Given the description of an element on the screen output the (x, y) to click on. 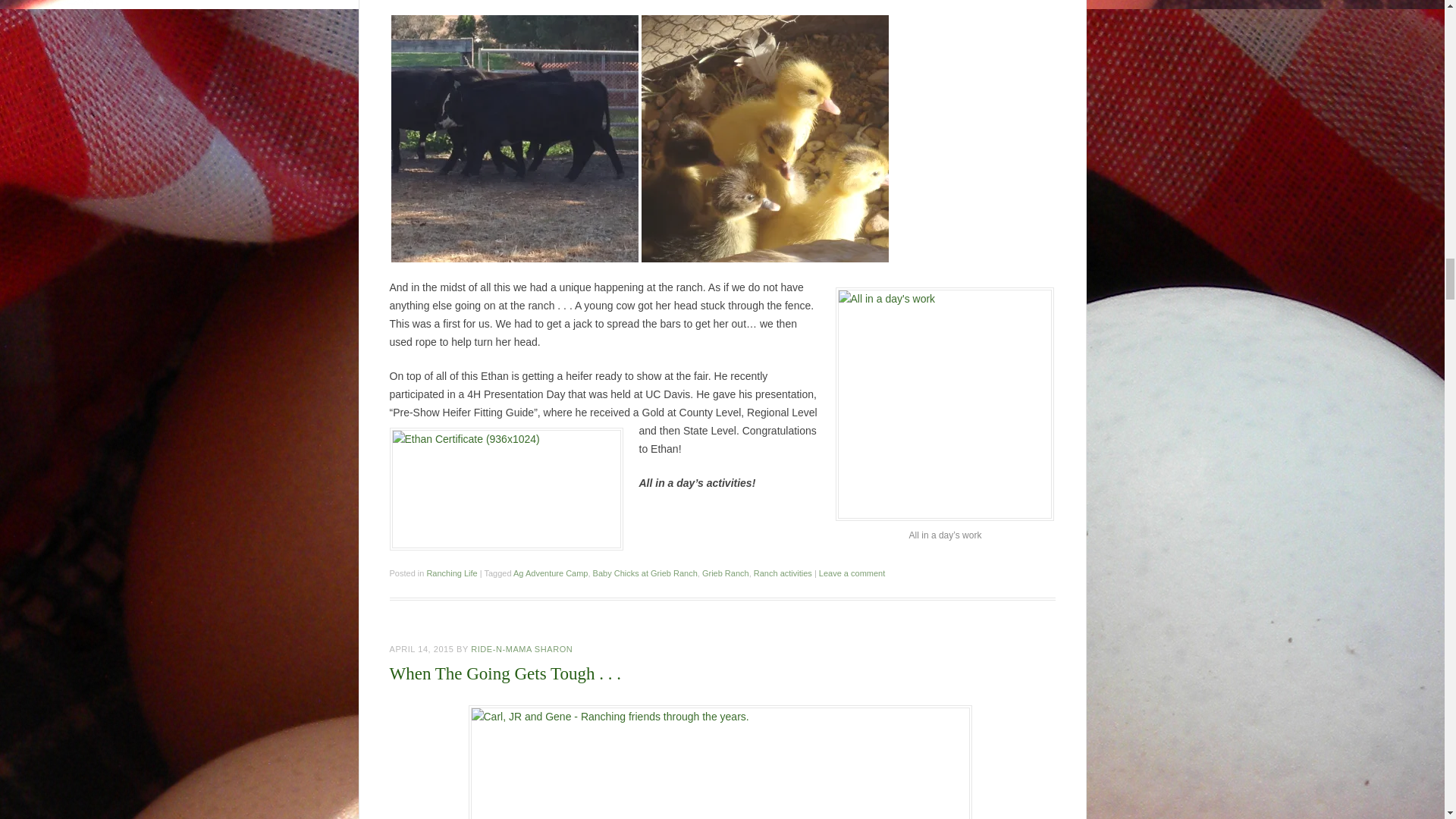
8:19 am (422, 648)
View all posts by ride-n-mama Sharon (521, 648)
Ag Adventure Camp (550, 573)
Baby Chicks at Grieb Ranch (644, 573)
Ranching Life (451, 573)
Make Way for Ducklings (765, 138)
photo 1 (515, 138)
